Given the description of an element on the screen output the (x, y) to click on. 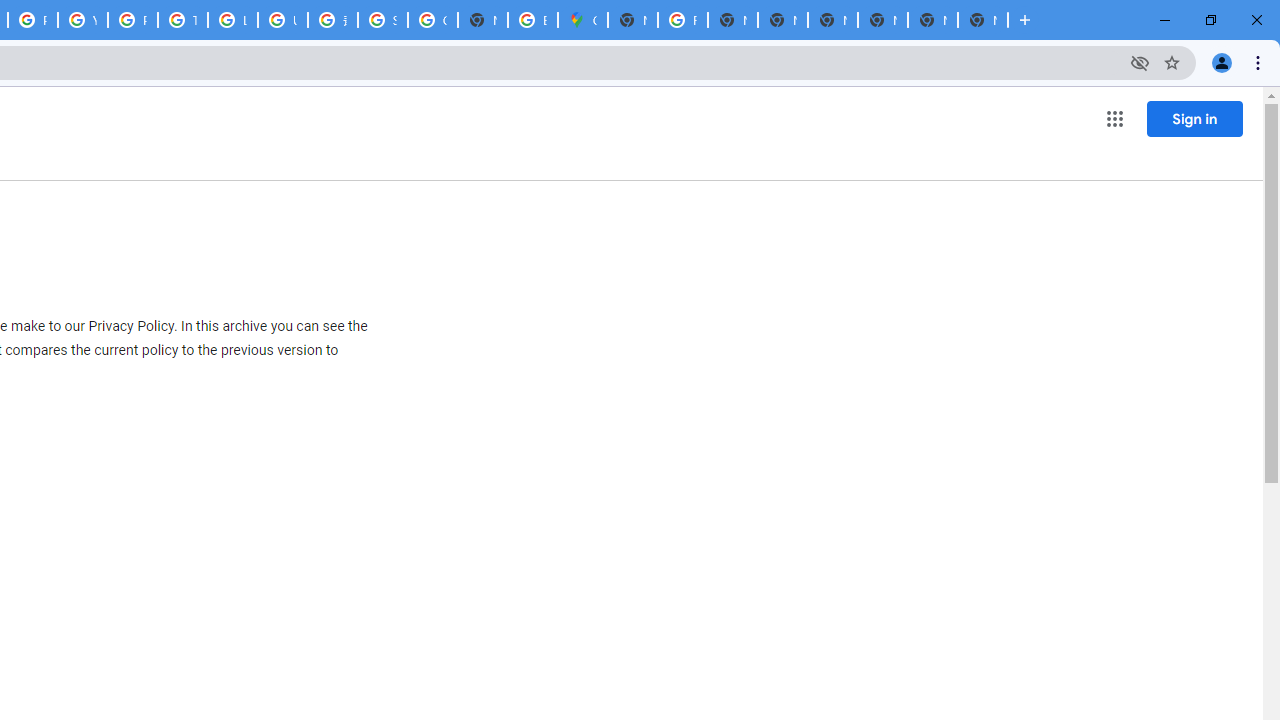
Sign in - Google Accounts (383, 20)
New Tab (932, 20)
Explore new street-level details - Google Maps Help (533, 20)
Google Maps (582, 20)
New Tab (632, 20)
